Given the description of an element on the screen output the (x, y) to click on. 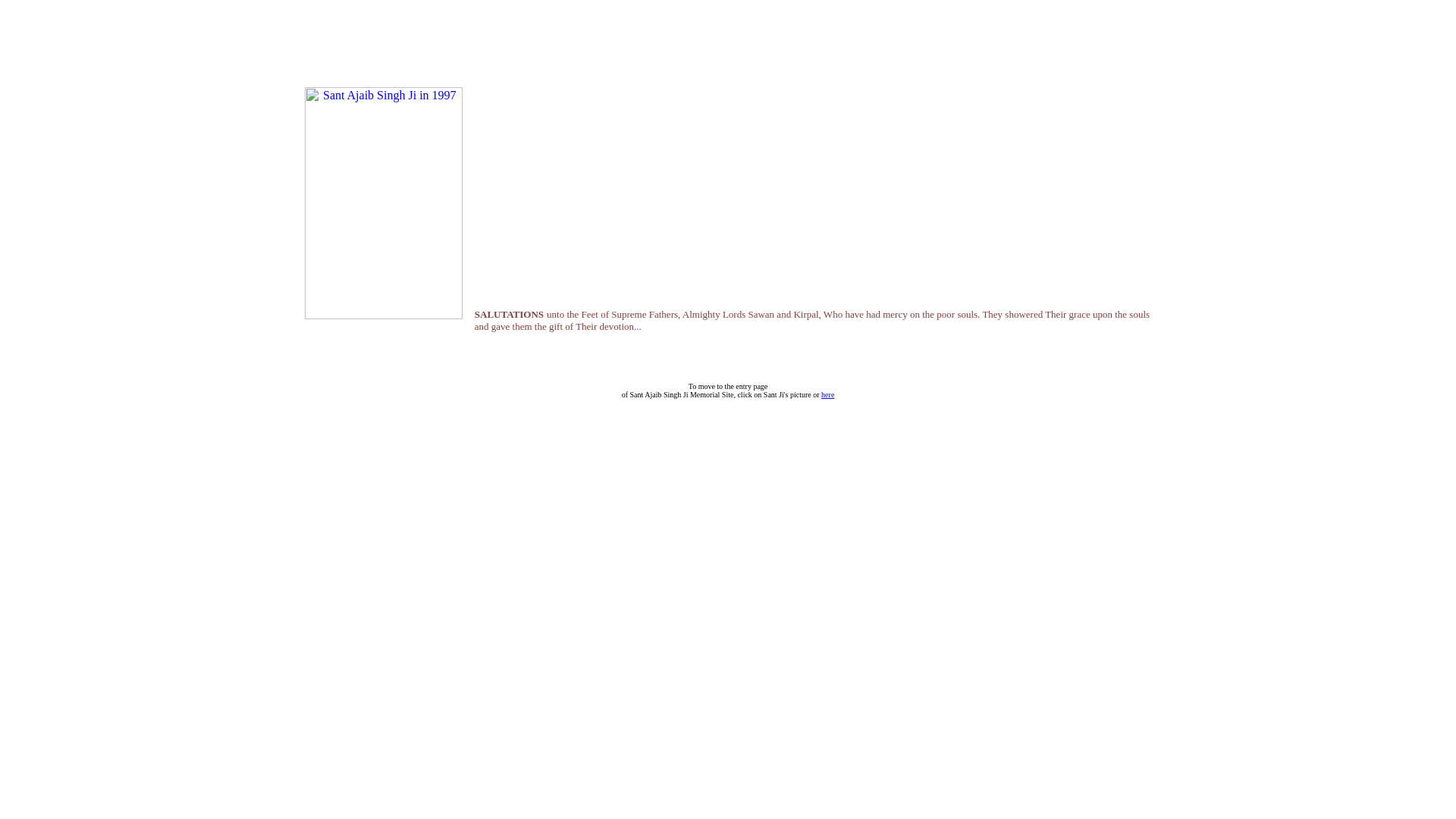
here Element type: text (827, 394)
